Given the description of an element on the screen output the (x, y) to click on. 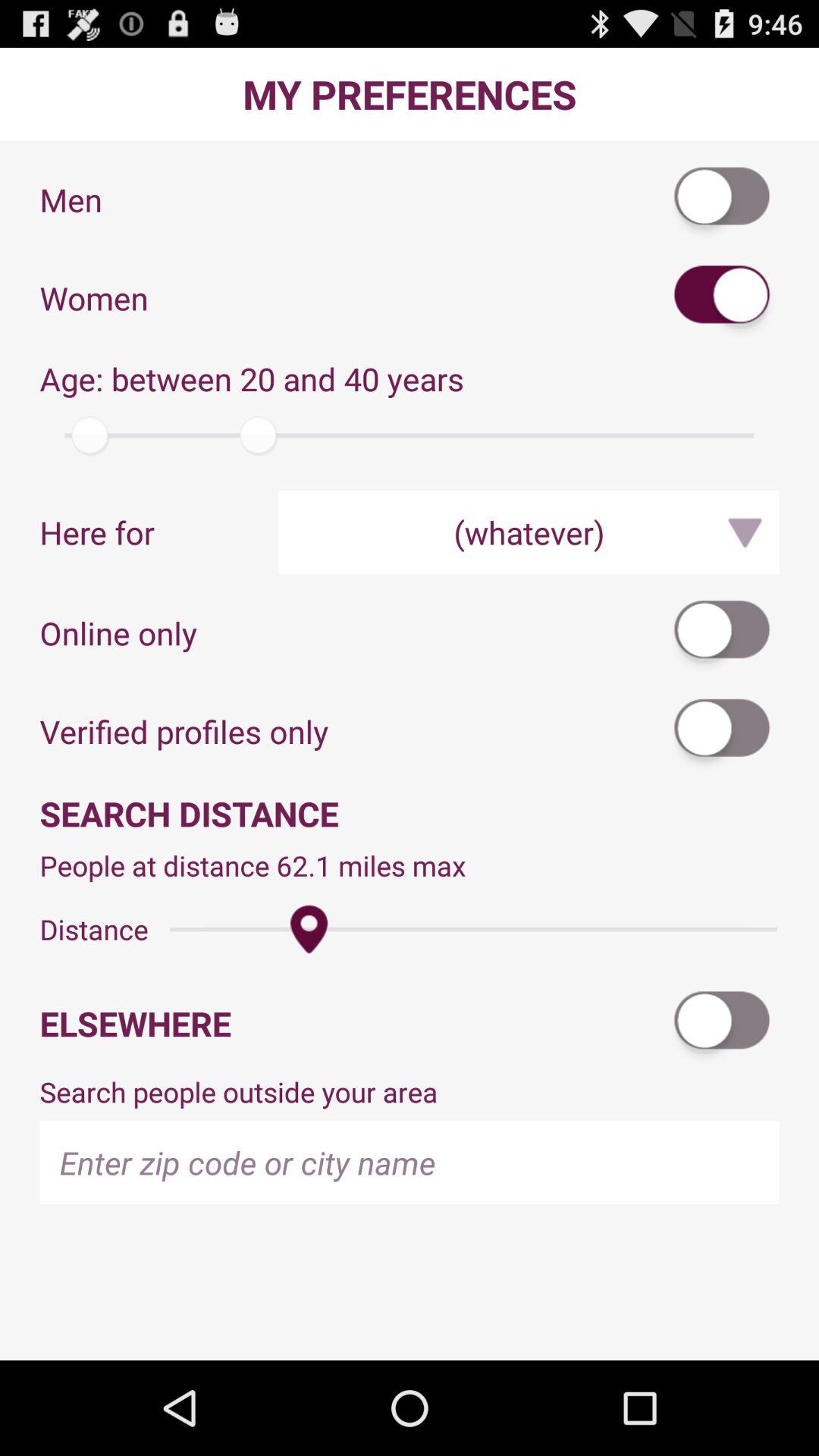
toggle online only mode (722, 632)
